Given the description of an element on the screen output the (x, y) to click on. 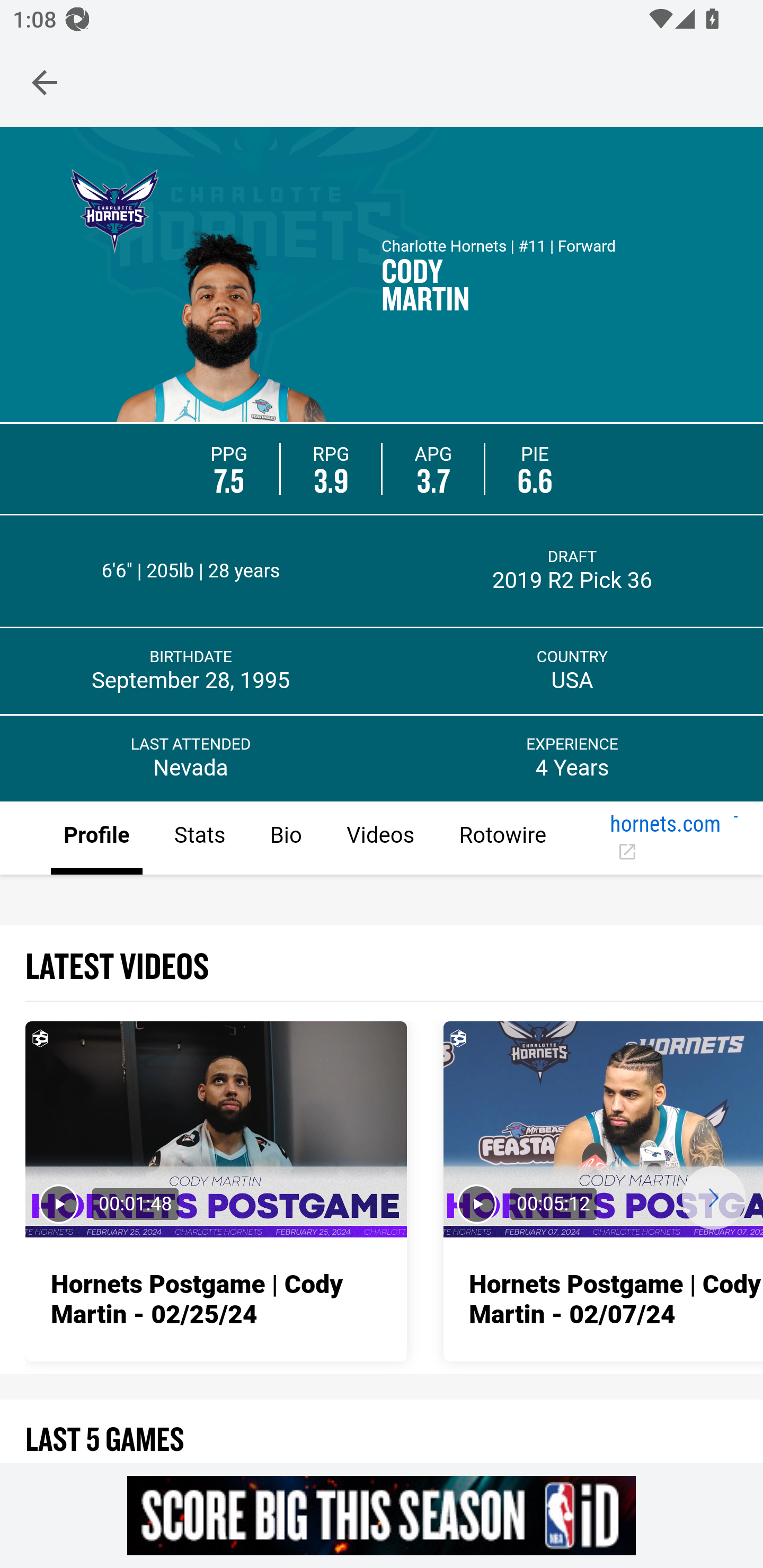
Navigate up (44, 82)
Charlotte Hornets Logo (114, 209)
Profile (97, 838)
Stats (199, 838)
Bio (284, 838)
Videos (379, 838)
Rotowire (501, 838)
hornets.com (664, 838)
Carousel Button (713, 1197)
